Given the description of an element on the screen output the (x, y) to click on. 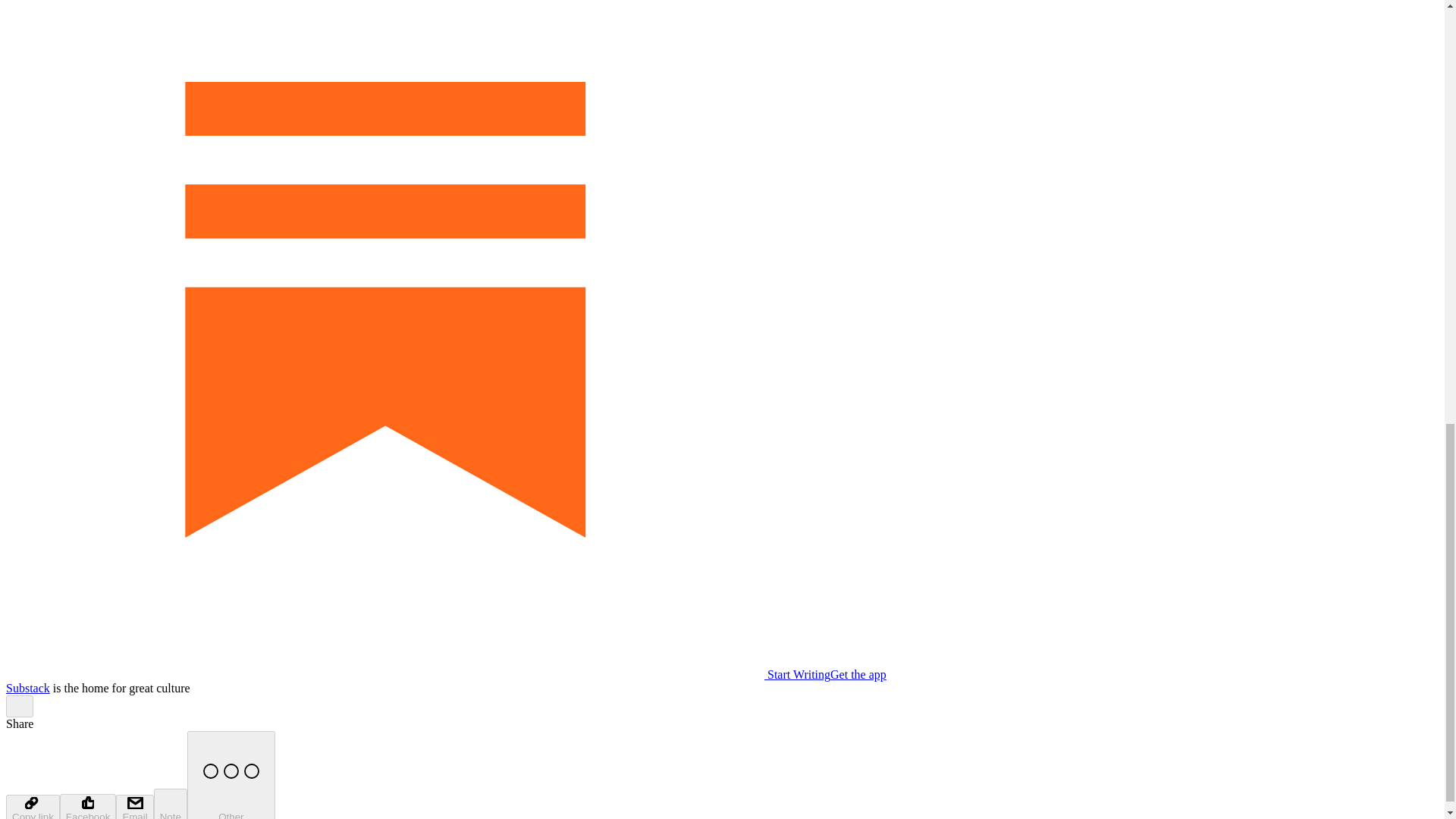
Start Writing (417, 674)
Substack (27, 687)
Get the app (857, 674)
